Given the description of an element on the screen output the (x, y) to click on. 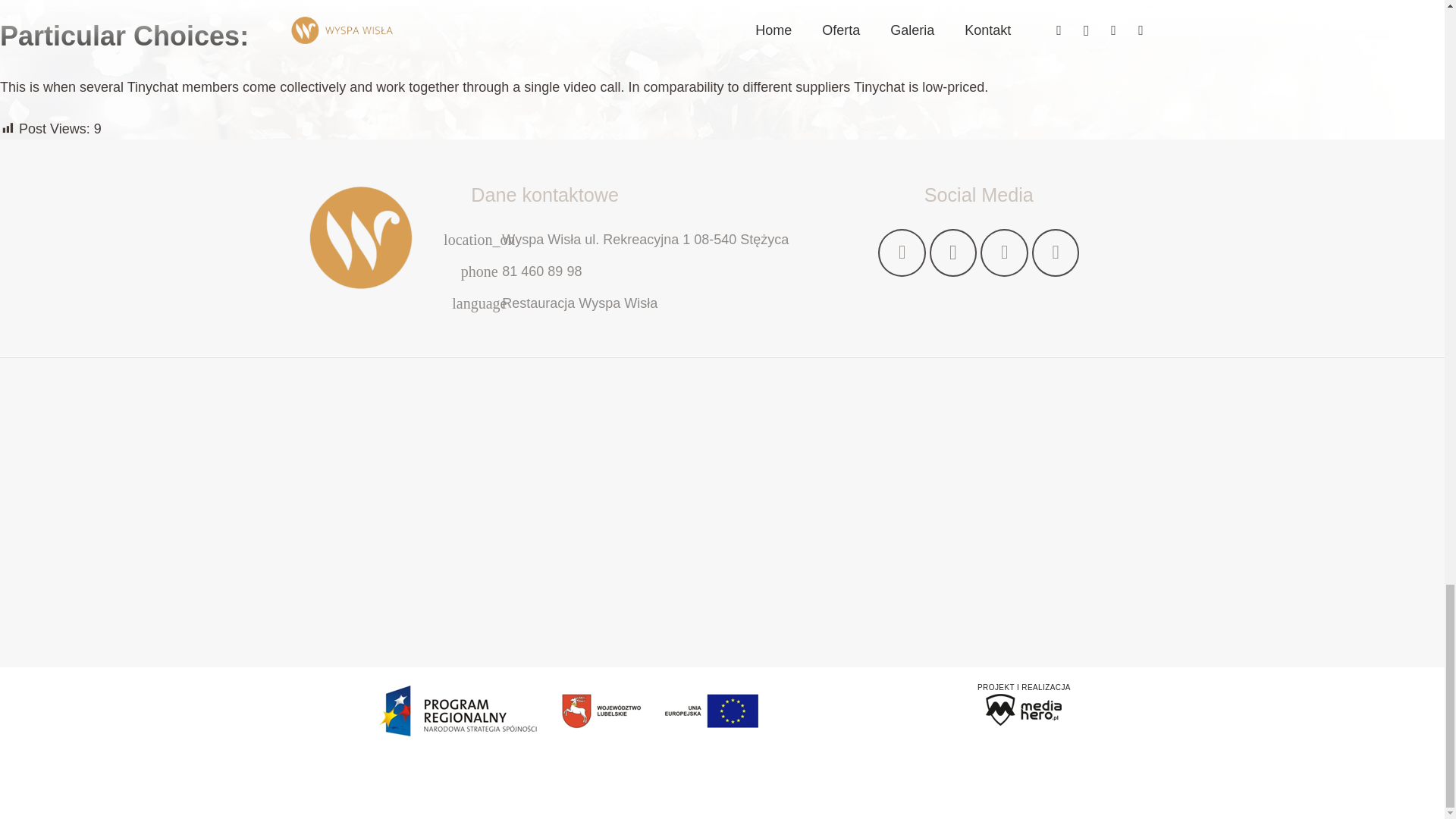
Instagram (953, 252)
Facebook (901, 252)
YouTube (1003, 252)
81 460 89 98 (541, 271)
Tripadvisor (1056, 252)
